Given the description of an element on the screen output the (x, y) to click on. 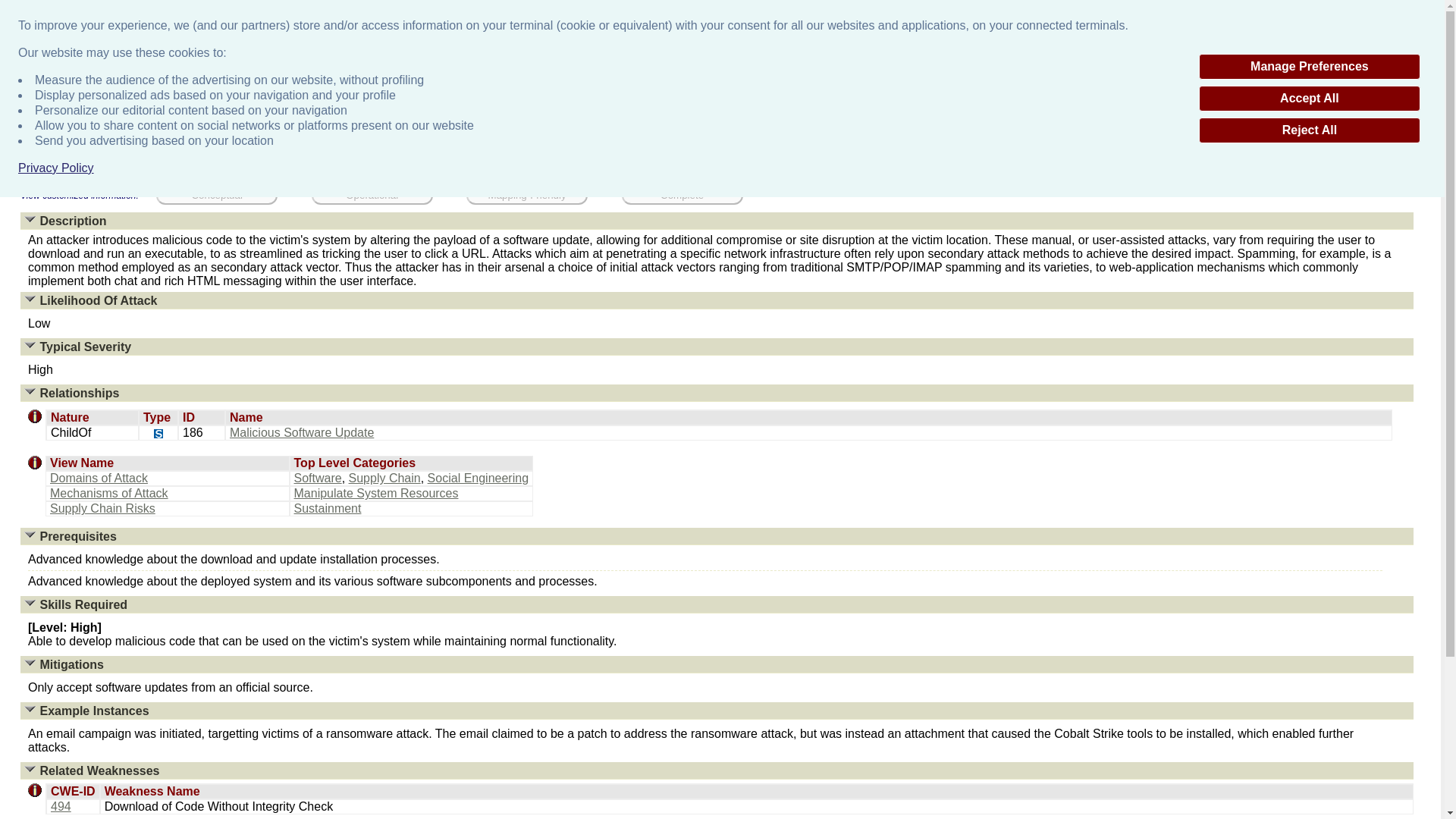
Home (19, 84)
CAPEC List (681, 102)
CAPEC List (68, 84)
About (591, 102)
Reject All (1309, 130)
New to CAPEC? Start Here (1391, 6)
Go (1424, 84)
Go (1424, 84)
Accept All (1309, 98)
Community (784, 102)
Privacy Policy (55, 168)
Manage Preferences (1309, 66)
Home (521, 102)
